Given the description of an element on the screen output the (x, y) to click on. 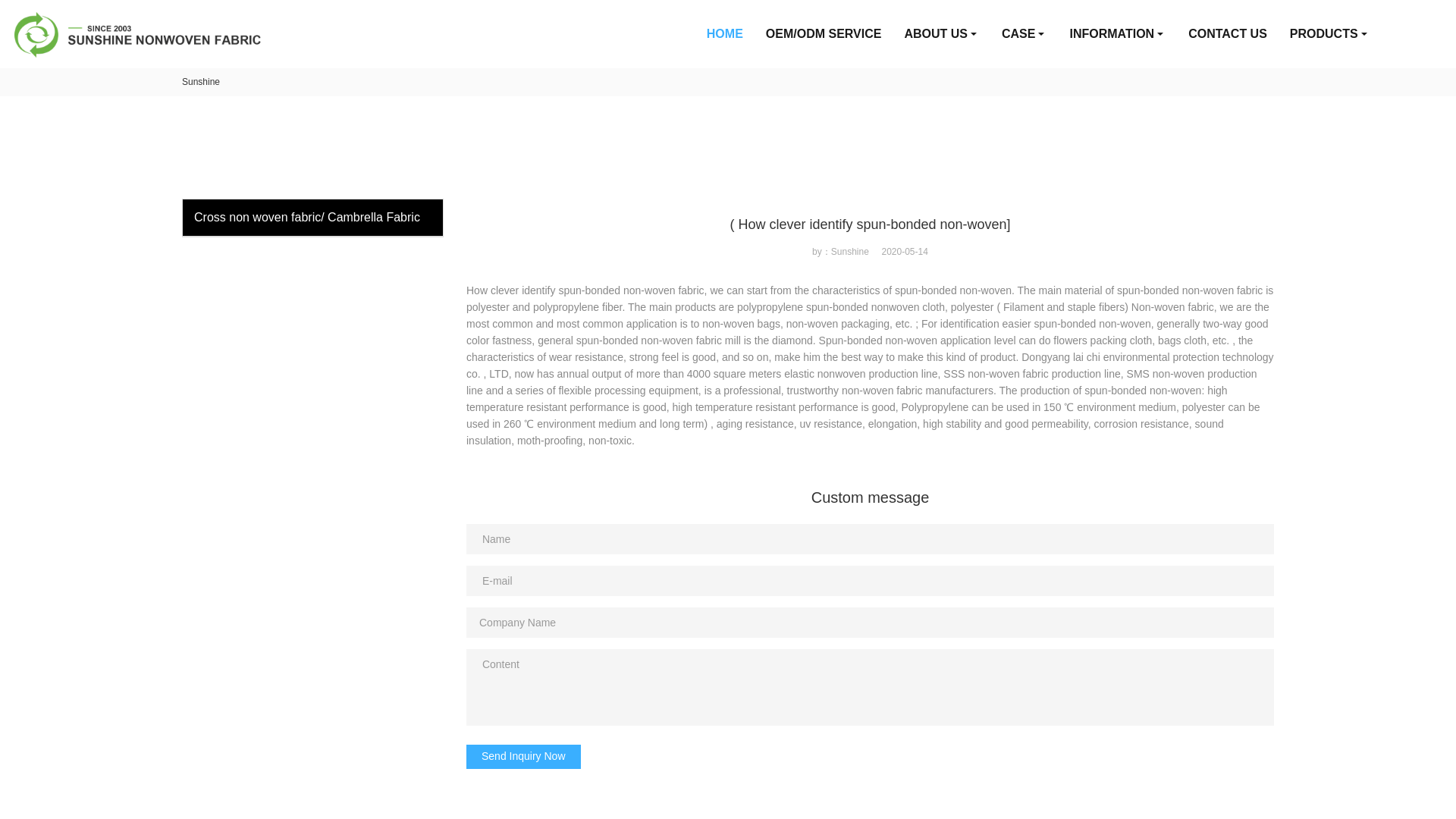
PRODUCTS (1329, 33)
CONTACT US (1227, 33)
ABOUT US (941, 33)
CASE (1024, 33)
INFORMATION (1117, 33)
